Given the description of an element on the screen output the (x, y) to click on. 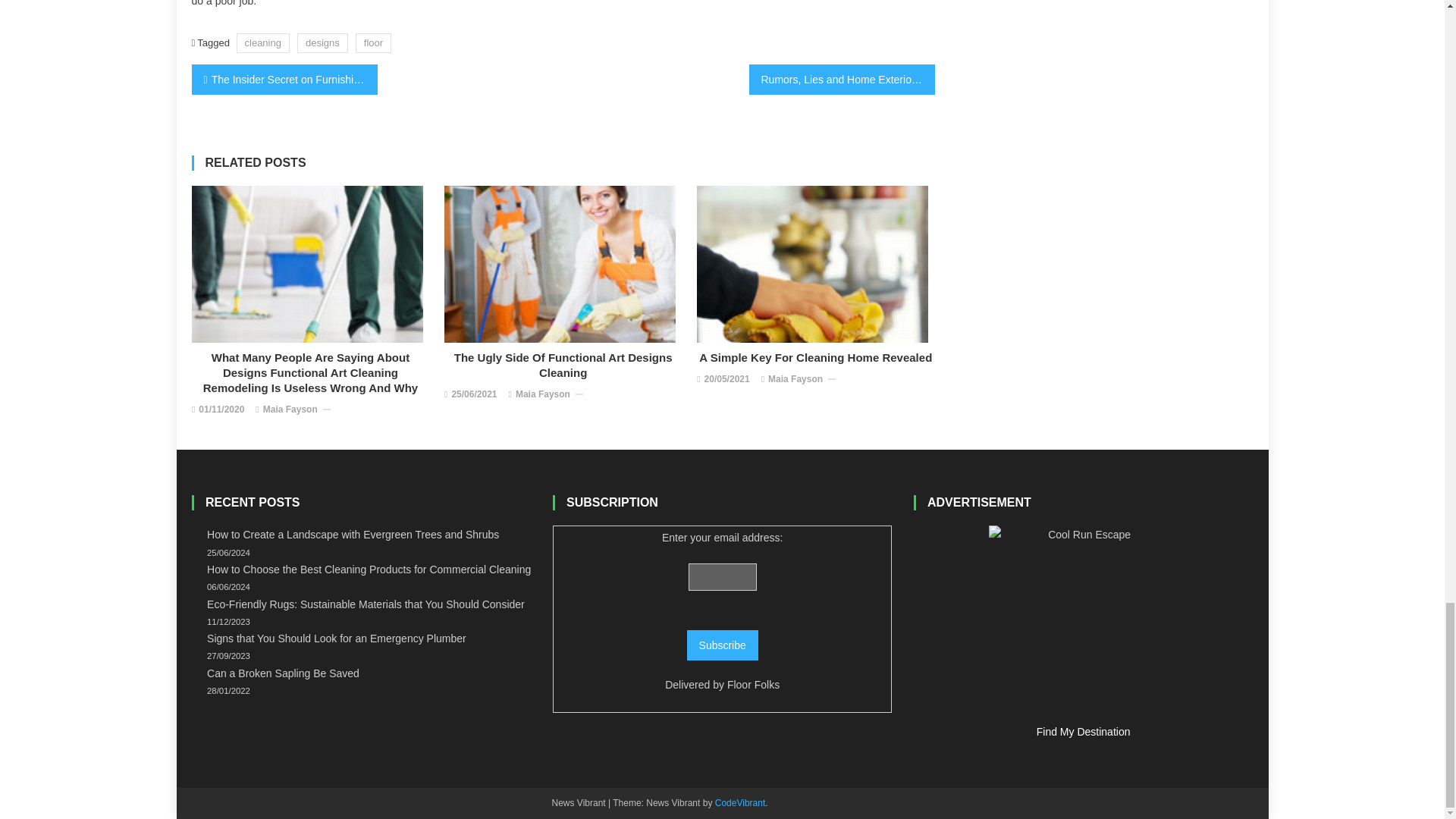
designs (322, 42)
The Ugly Side of Functional Art Designs Cleaning (559, 264)
The Insider Secret on Furnishing Found (283, 79)
Subscribe (722, 644)
floor (373, 42)
A Simple Key For Cleaning Home Revealed (812, 264)
cleaning (262, 42)
